Given the description of an element on the screen output the (x, y) to click on. 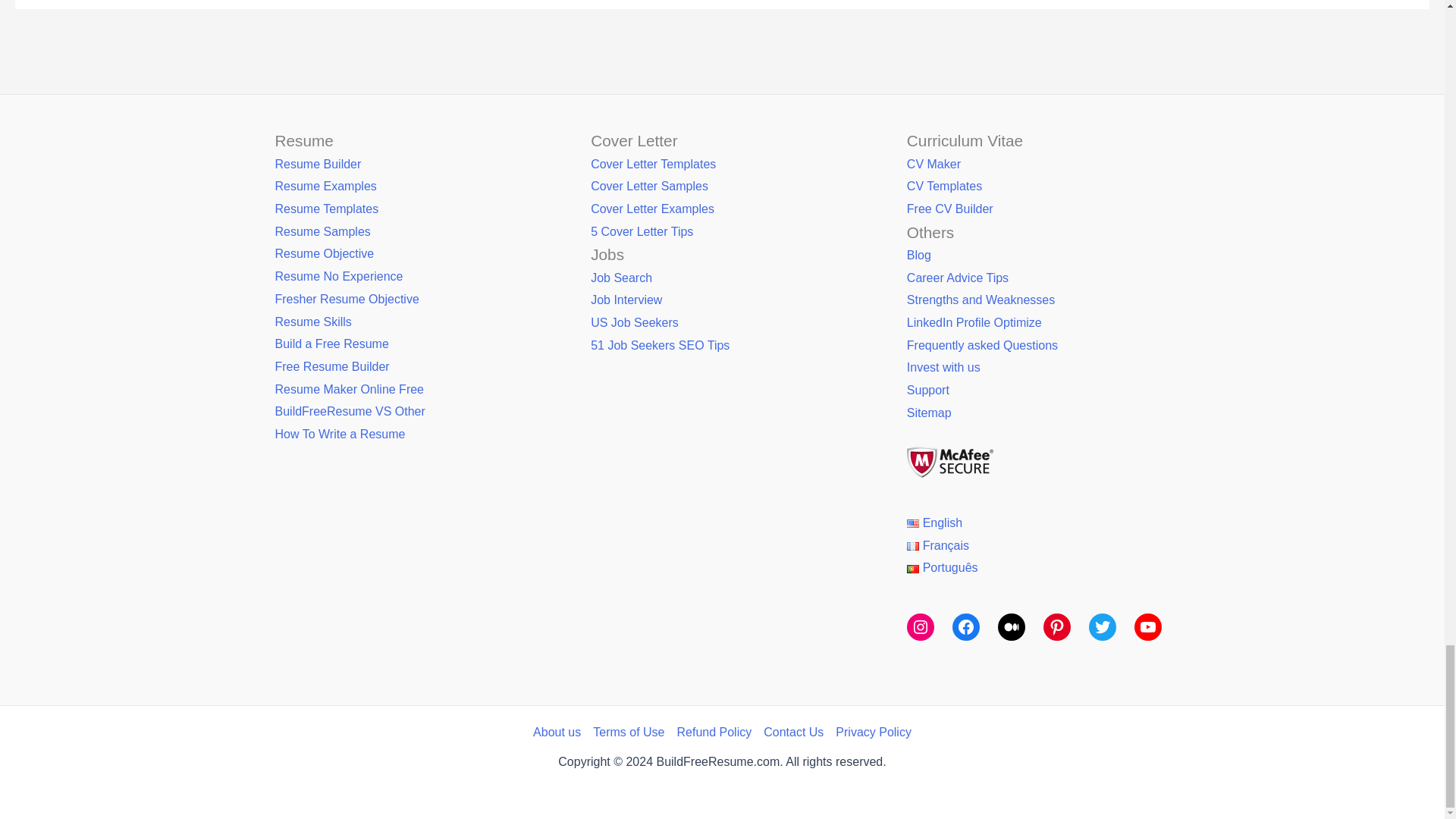
build free resume mcafee secure (949, 461)
